Given the description of an element on the screen output the (x, y) to click on. 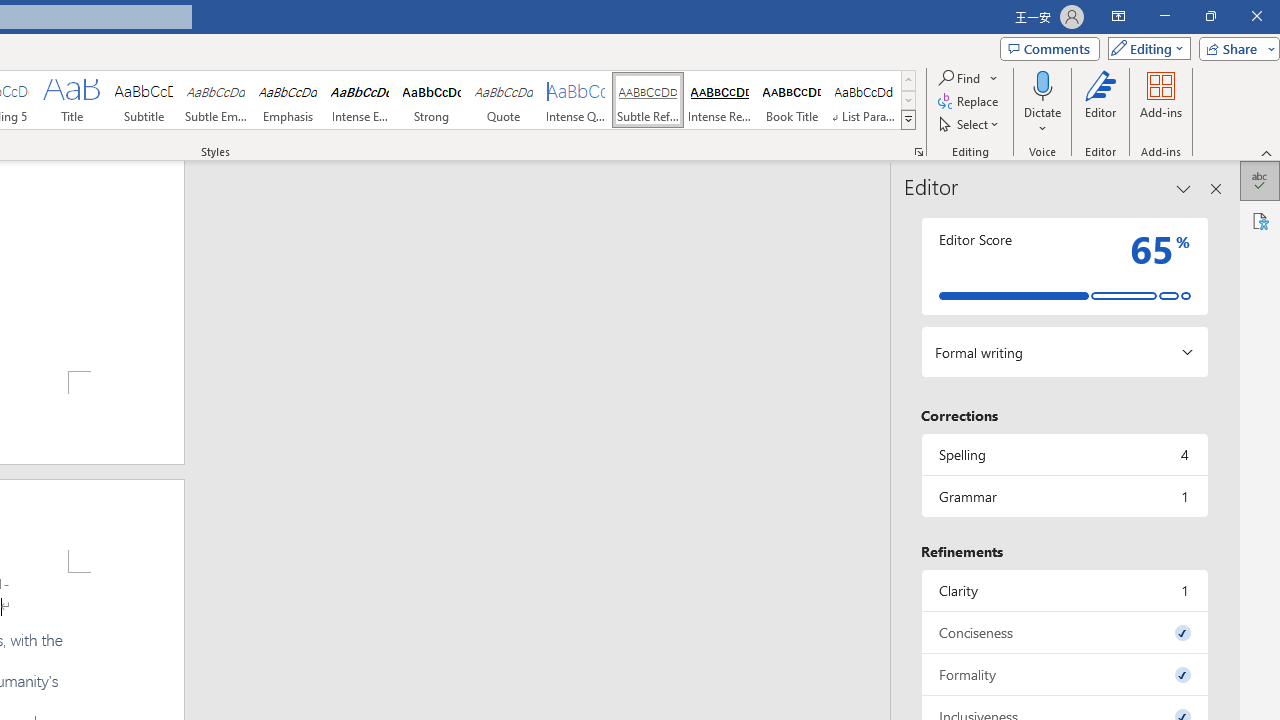
Conciseness, 0 issues. Press space or enter to review items. (1064, 632)
Title (71, 100)
Strong (431, 100)
Styles (908, 120)
Row Down (908, 100)
Subtitle (143, 100)
Editor Score 65% (1064, 266)
Styles... (918, 151)
